Given the description of an element on the screen output the (x, y) to click on. 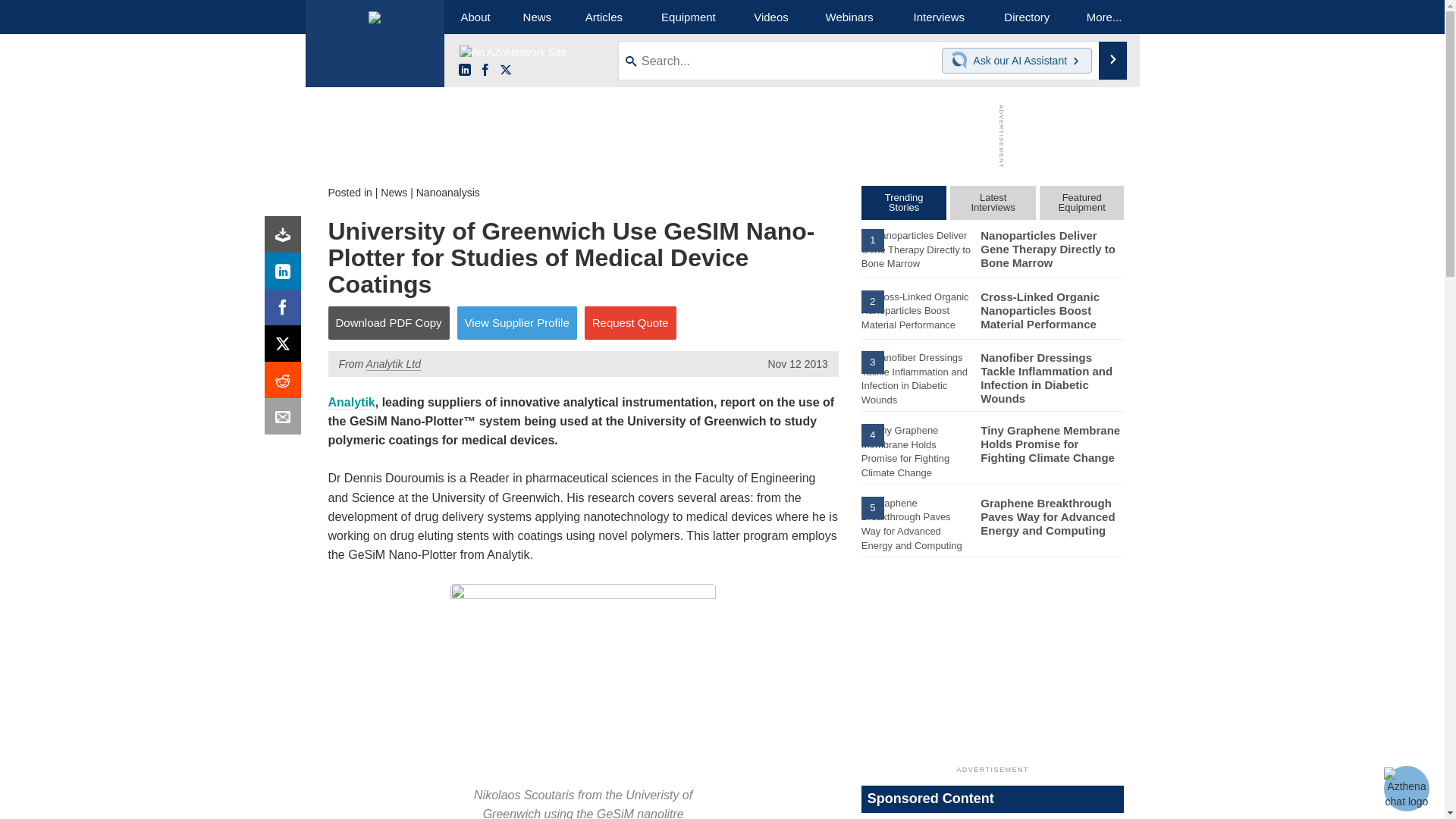
Chat with our AI Assistant (962, 60)
Interviews (939, 17)
LinkedIn (464, 70)
Facebook (485, 70)
Webinars (849, 17)
Nanoanalysis (448, 192)
More... (1104, 17)
News (536, 17)
Download PDF copy (285, 238)
Videos (770, 17)
LinkedIn (285, 275)
Equipment (688, 17)
X (285, 348)
Reddit (285, 384)
Directory (1026, 17)
